Given the description of an element on the screen output the (x, y) to click on. 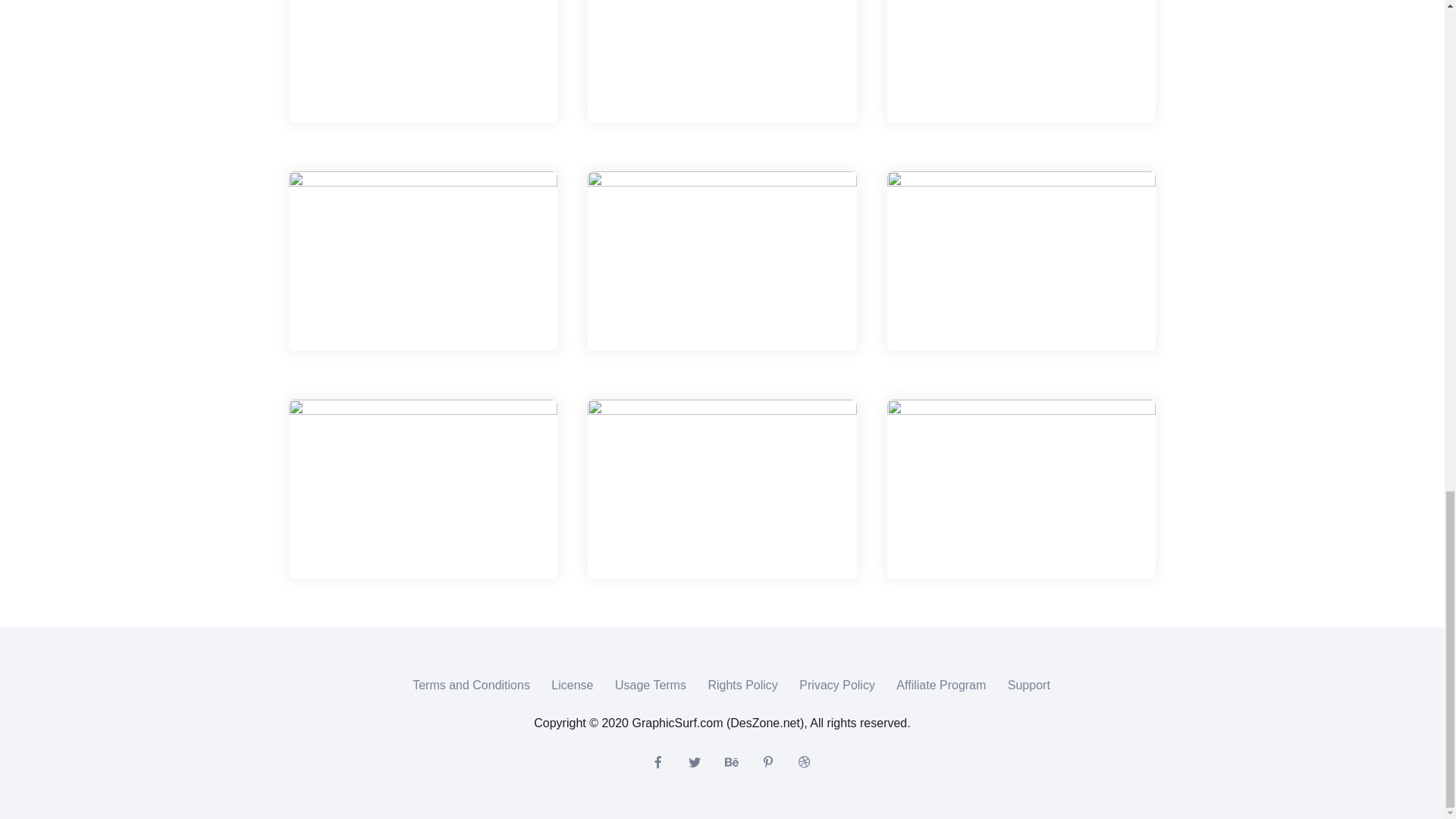
Privacy Policy (837, 684)
Rights Policy (742, 684)
Family Budget Planning Flat Illustration (722, 260)
Support (1028, 684)
Affiliate Program (940, 684)
Mobile Banking Vector Free Illustration (422, 488)
Falling Oil Prices Vector Design (422, 260)
License (571, 684)
Terms and Conditions (470, 684)
Investment Online Courses Vector Design (722, 488)
The Increase in Oil Prices Free Illustration (422, 61)
Paying Taxes via Smartphone Free Illustration (1021, 260)
Negative Financial Schedule and Frustrated Traders Concept (722, 61)
Investor Amid Falling Stock Market Illustration (1021, 61)
Successful Investment on the Stock Exchange Flat Design (1021, 488)
